Given the description of an element on the screen output the (x, y) to click on. 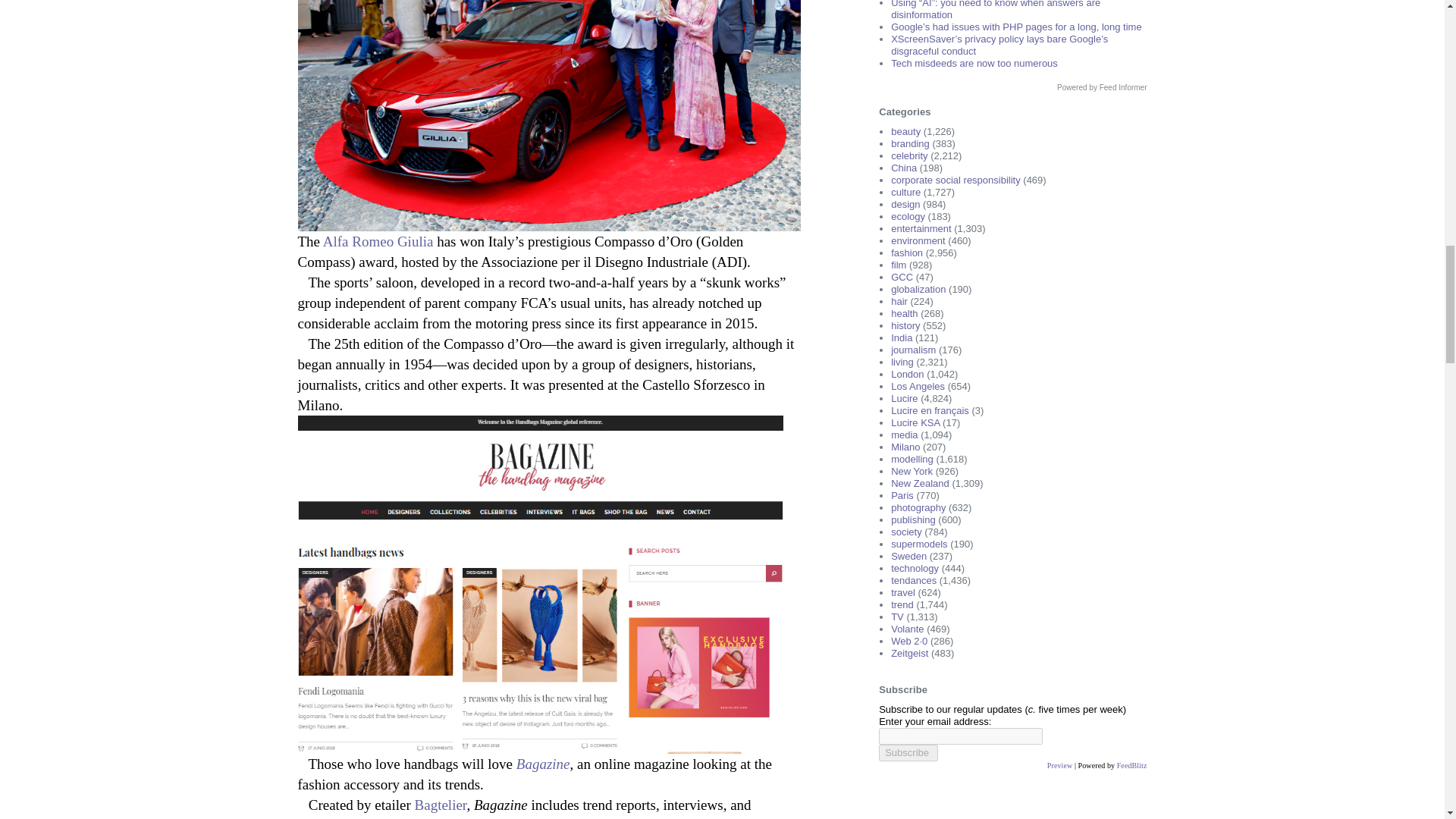
Bagtelier (440, 804)
Instagram (643, 818)
Bagazine (543, 763)
Facebook (707, 818)
Alfa Romeo Giulia (378, 241)
Subscribe  (908, 752)
